Given the description of an element on the screen output the (x, y) to click on. 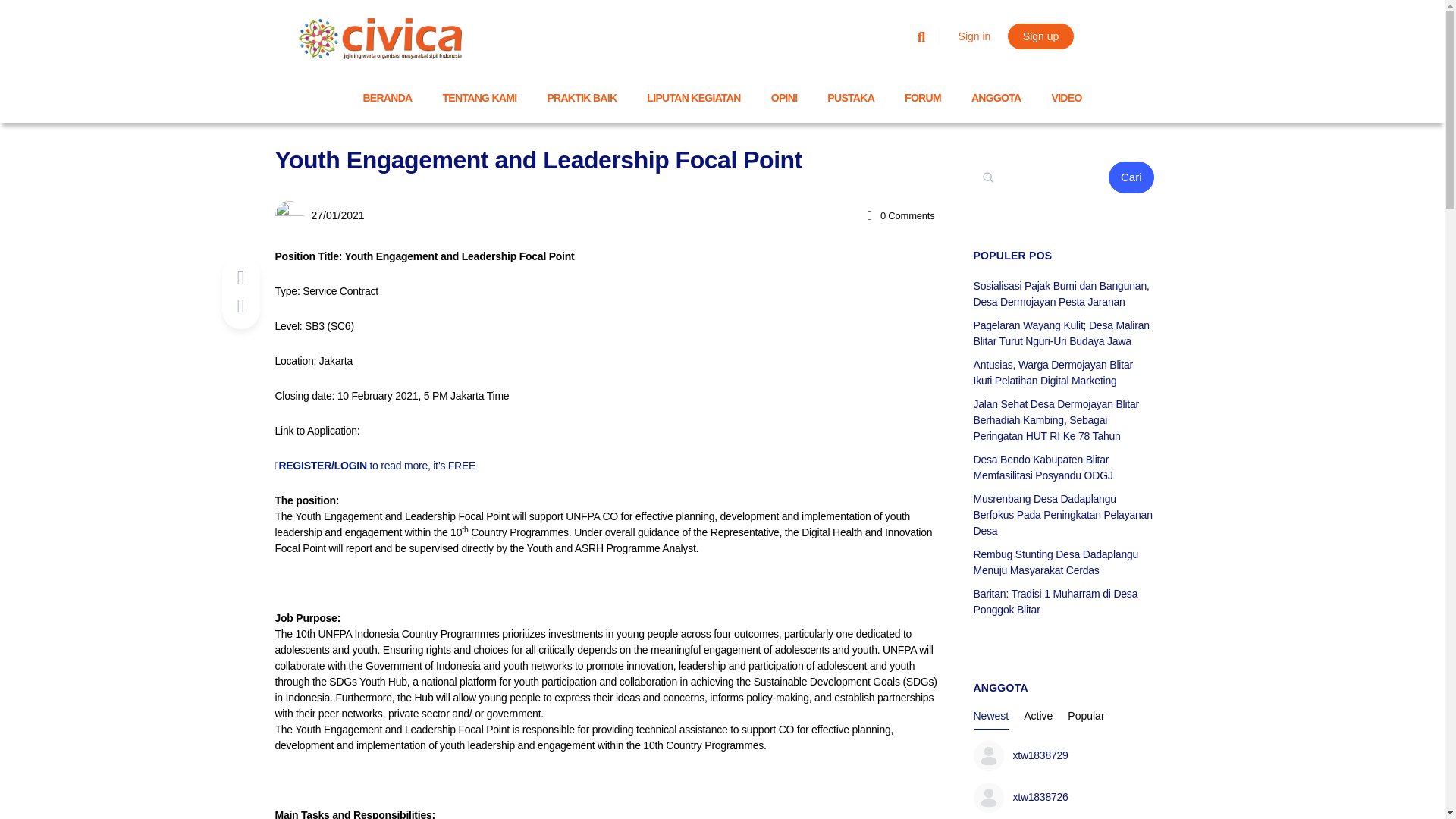
Sign in (974, 36)
VIDEO (1066, 97)
PUSTAKA (850, 97)
LIPUTAN KEGIATAN (693, 97)
Sign up (1040, 35)
TENTANG KAMI (480, 97)
ANGGOTA (996, 97)
BERANDA (386, 97)
PRAKTIK BAIK (581, 97)
FORUM (922, 97)
OPINI (783, 97)
